Given the description of an element on the screen output the (x, y) to click on. 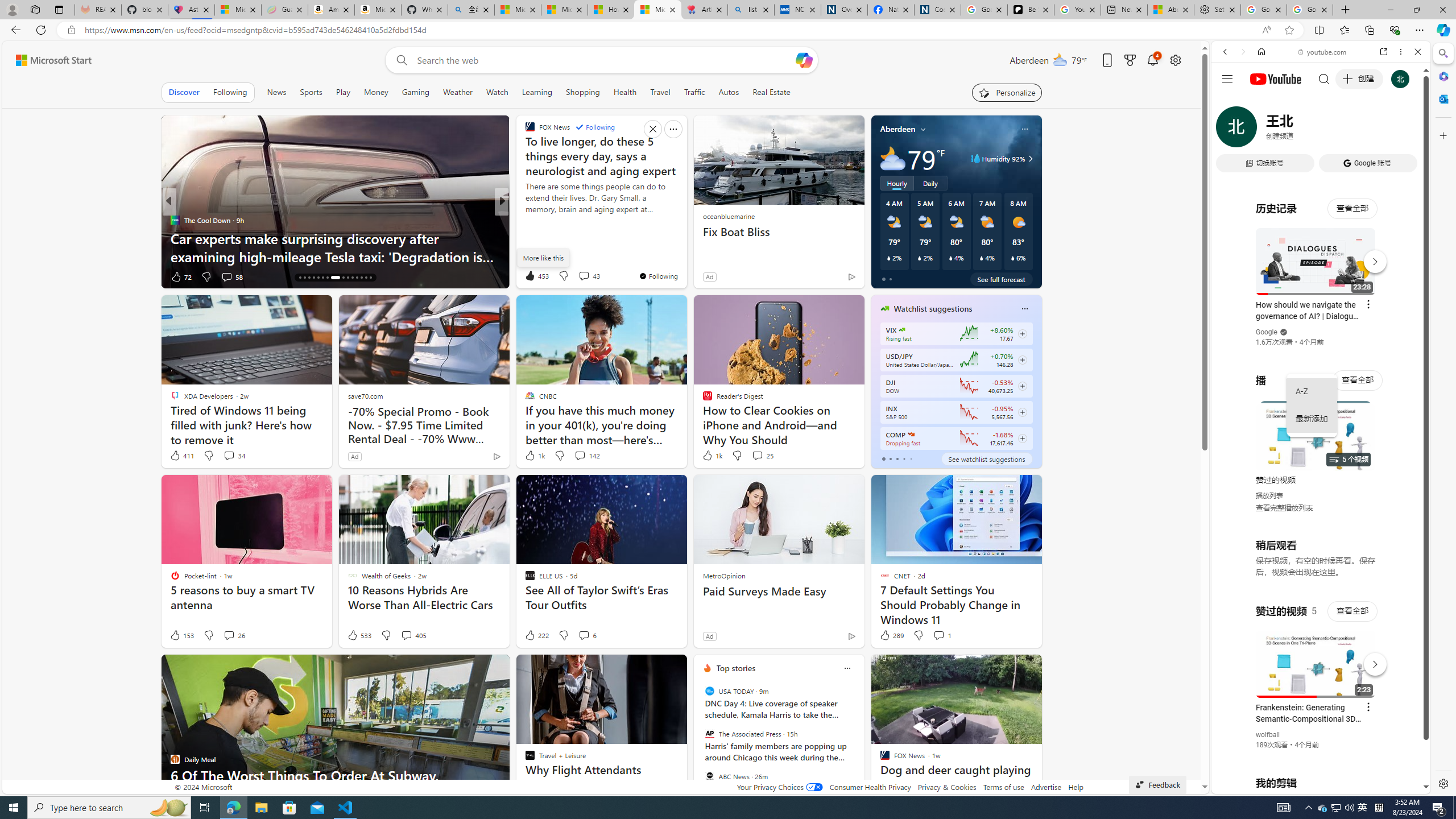
USA TODAY (709, 691)
View comments 496 Comment (583, 276)
NASDAQ (910, 434)
Click to scroll right (1407, 456)
Humidity 92% (1028, 158)
